Given the description of an element on the screen output the (x, y) to click on. 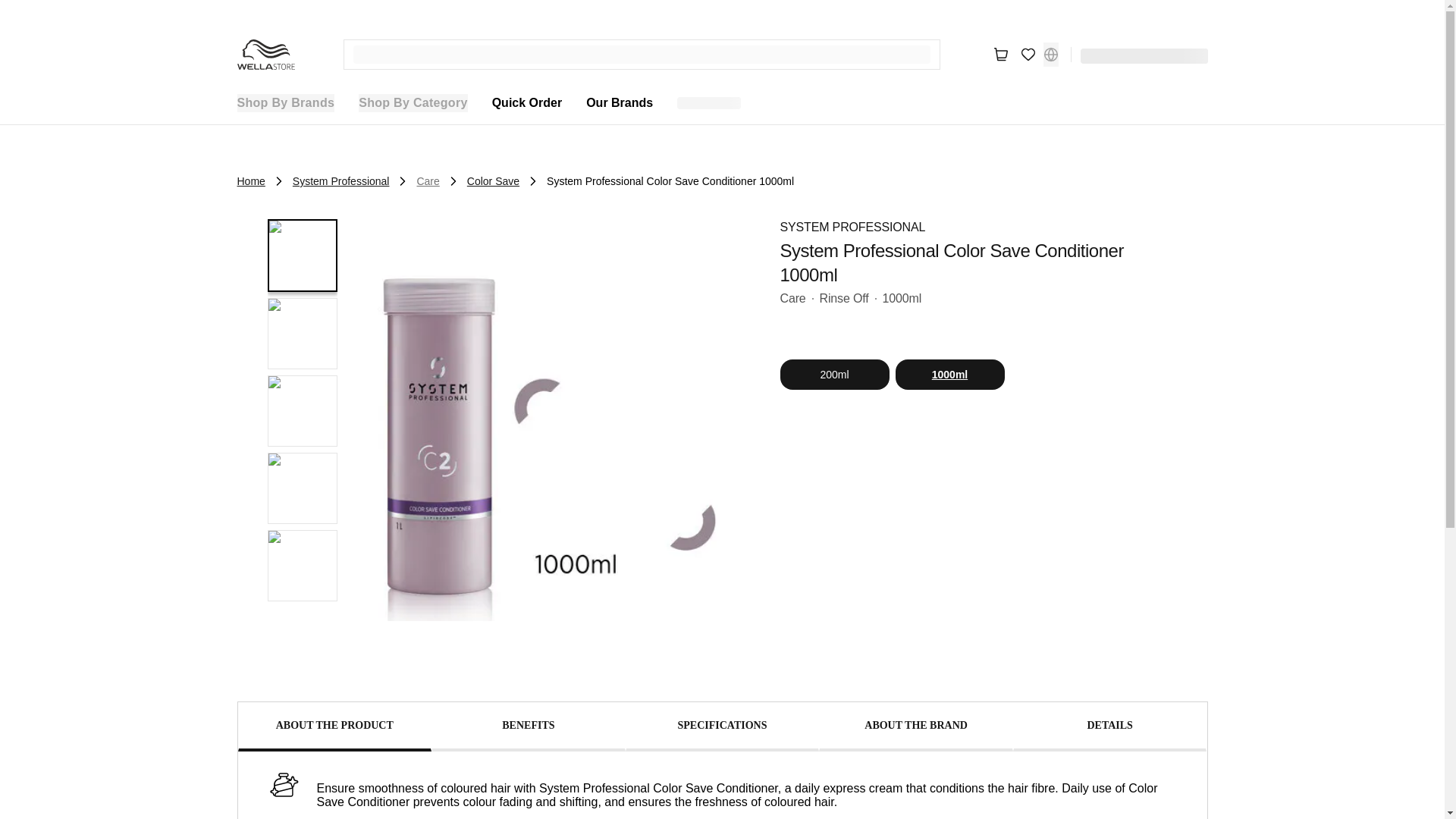
Our Brands (619, 103)
Care (427, 181)
Quick Order (527, 103)
Shop By Brands (284, 103)
Go to Homepage (264, 54)
Home (249, 181)
Color Save (493, 181)
Shop By Category (412, 103)
System Professional (341, 181)
